Given the description of an element on the screen output the (x, y) to click on. 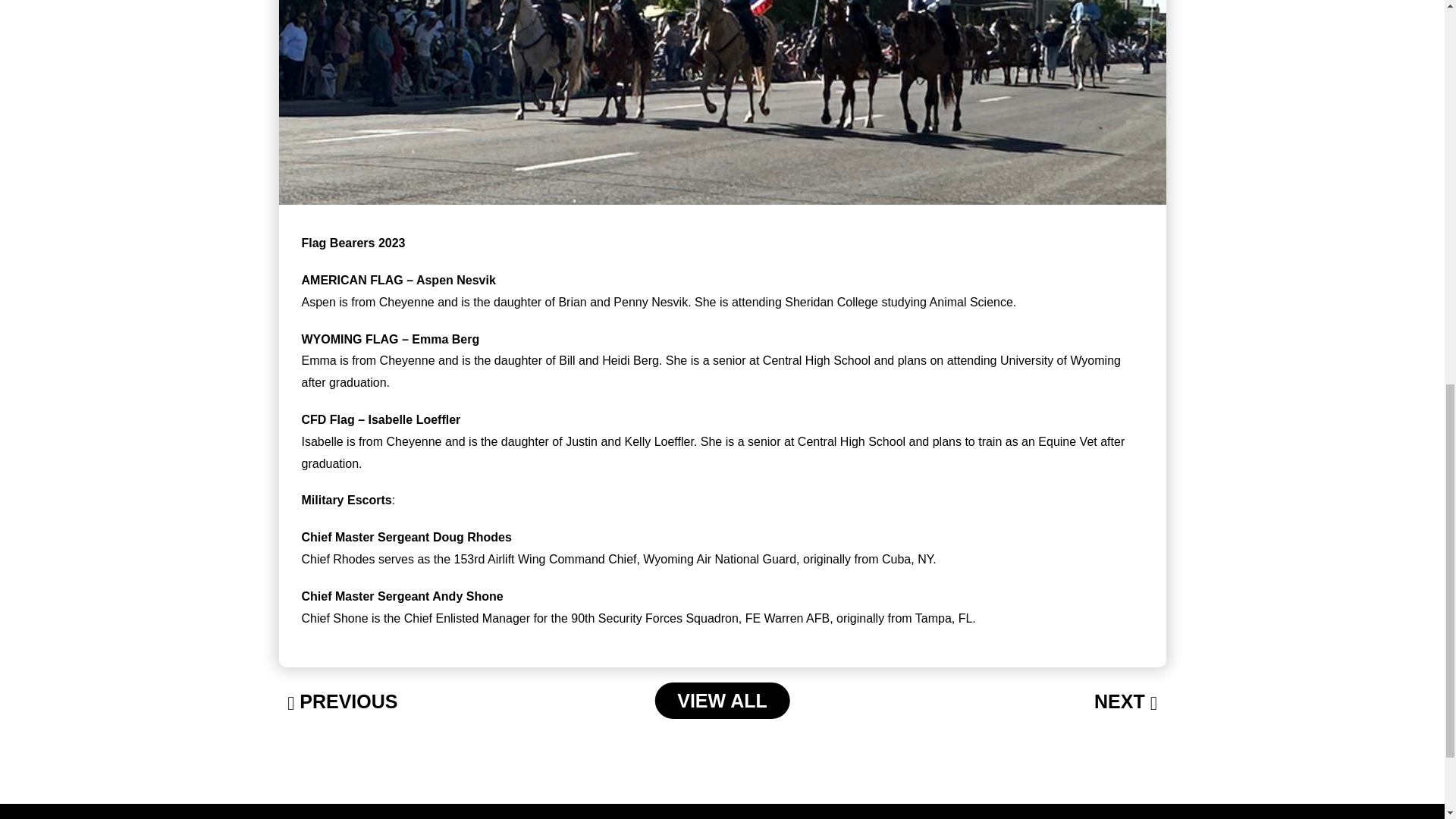
VIEW ALL (721, 700)
PREVIOUS (341, 702)
NEXT (1125, 702)
